Given the description of an element on the screen output the (x, y) to click on. 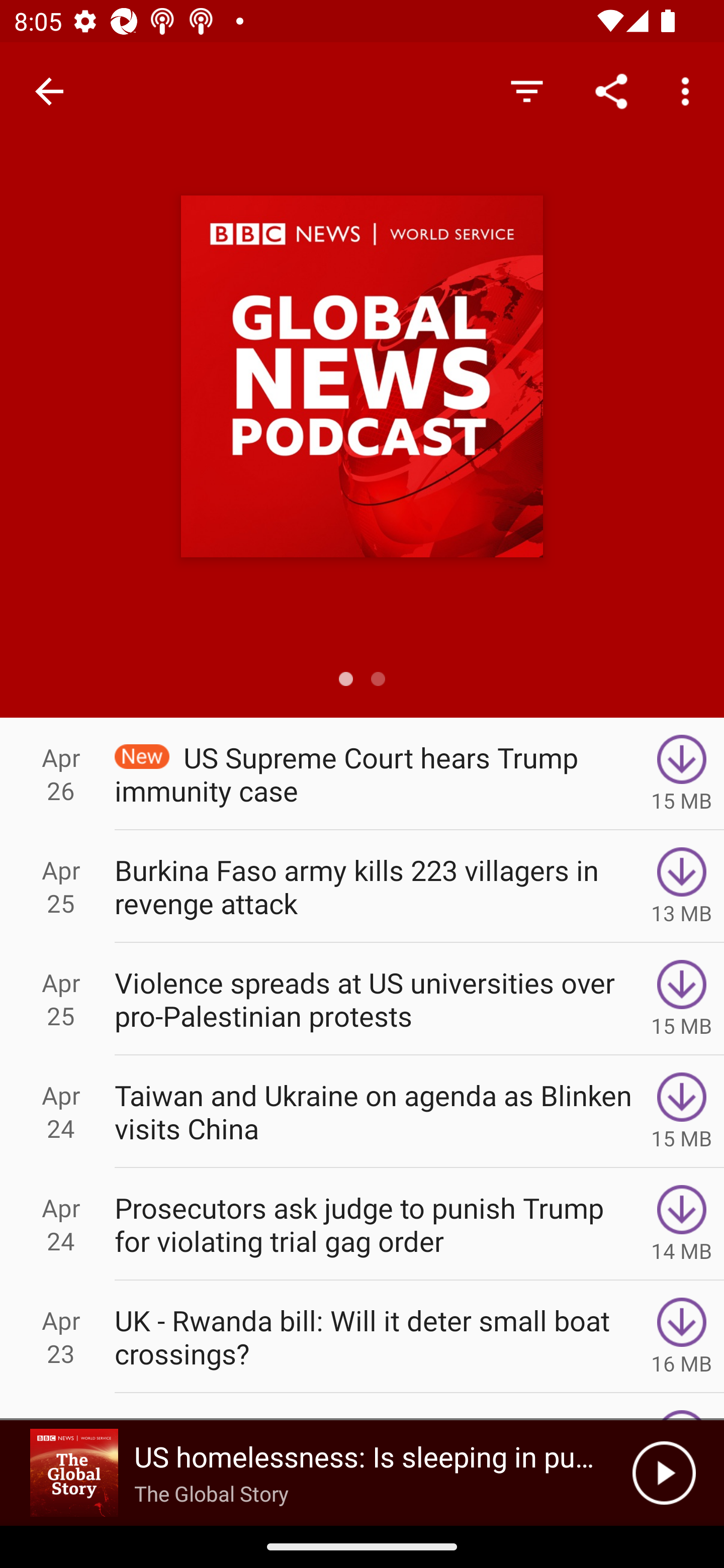
Navigate up (49, 91)
Hide Episodes (526, 90)
Share Link (611, 90)
More options (688, 90)
Download 15 MB (681, 773)
Download 13 MB (681, 885)
Download 15 MB (681, 998)
Download 15 MB (681, 1111)
Download 14 MB (681, 1224)
Download 16 MB (681, 1336)
Play (663, 1472)
